Given the description of an element on the screen output the (x, y) to click on. 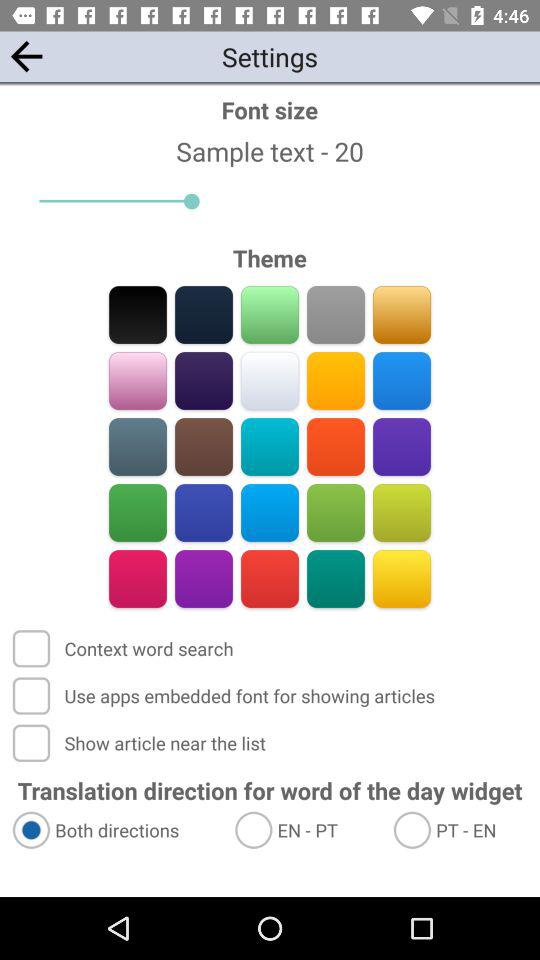
select theme color (335, 380)
